Given the description of an element on the screen output the (x, y) to click on. 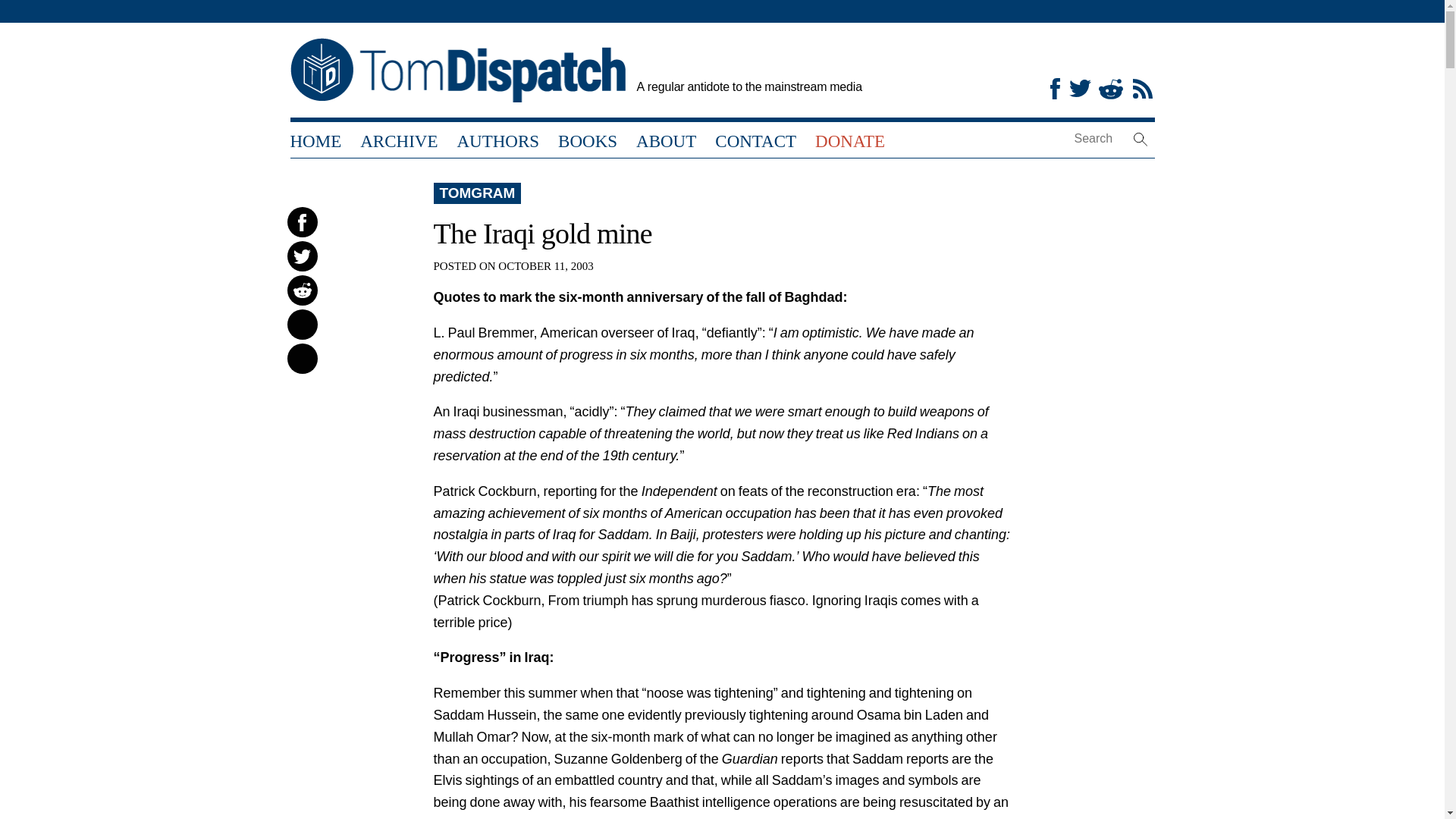
DONATE (850, 139)
BOOKS (587, 139)
AUTHORS (497, 139)
CONTACT (755, 139)
ABOUT (665, 139)
ARCHIVE (398, 139)
Search for: (1110, 139)
HOME (314, 139)
TOMGRAM (477, 193)
